Given the description of an element on the screen output the (x, y) to click on. 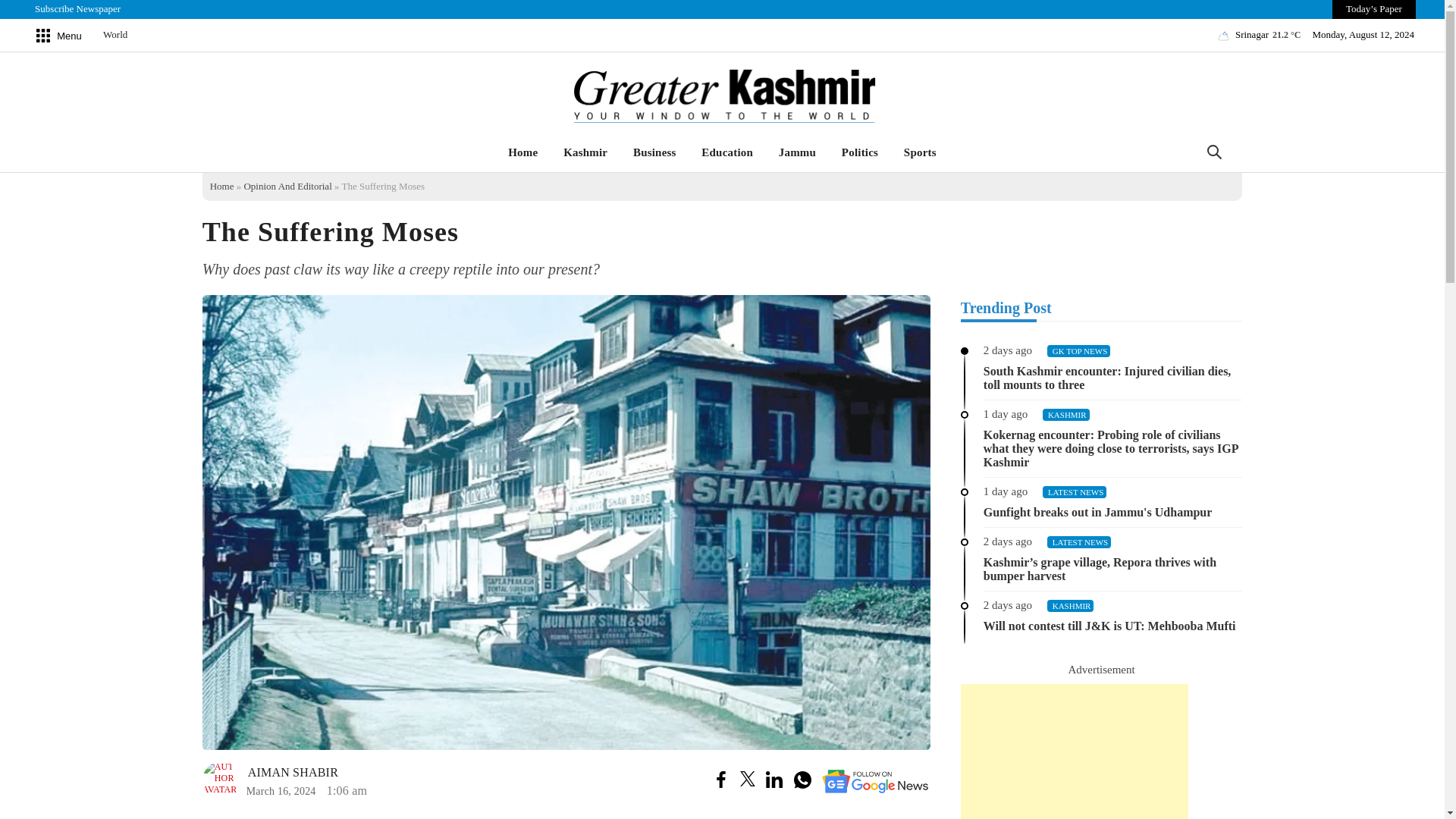
Jammu (797, 152)
The Suffering Moses (269, 780)
Menu (57, 37)
Education (727, 152)
Subscribe Newspaper (77, 9)
Home (522, 152)
March 16, 2024 (280, 790)
Kashmir (584, 152)
Politics (859, 152)
Sports (919, 152)
